Given the description of an element on the screen output the (x, y) to click on. 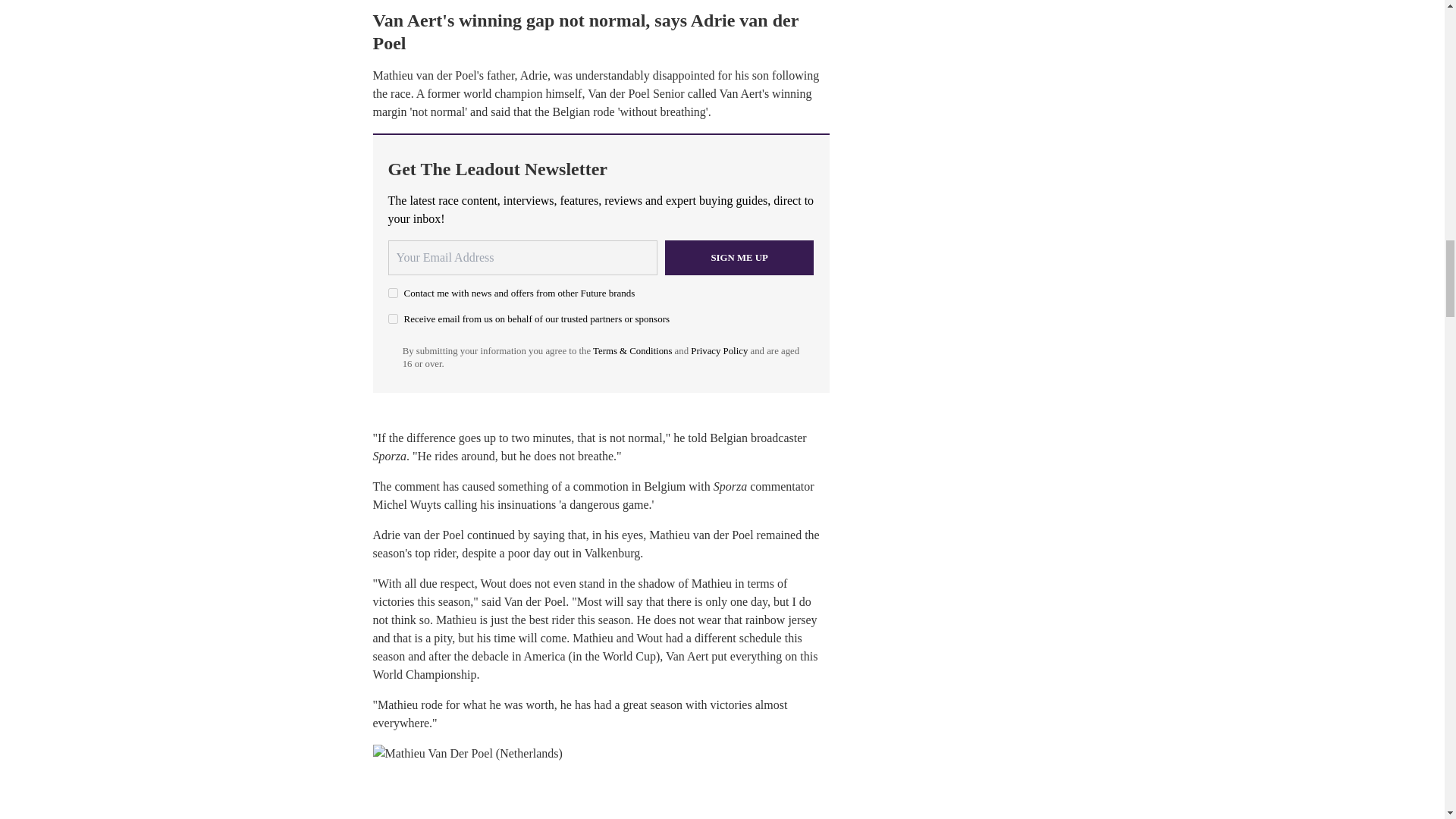
on (392, 293)
Sign me up (739, 257)
on (392, 318)
